Given the description of an element on the screen output the (x, y) to click on. 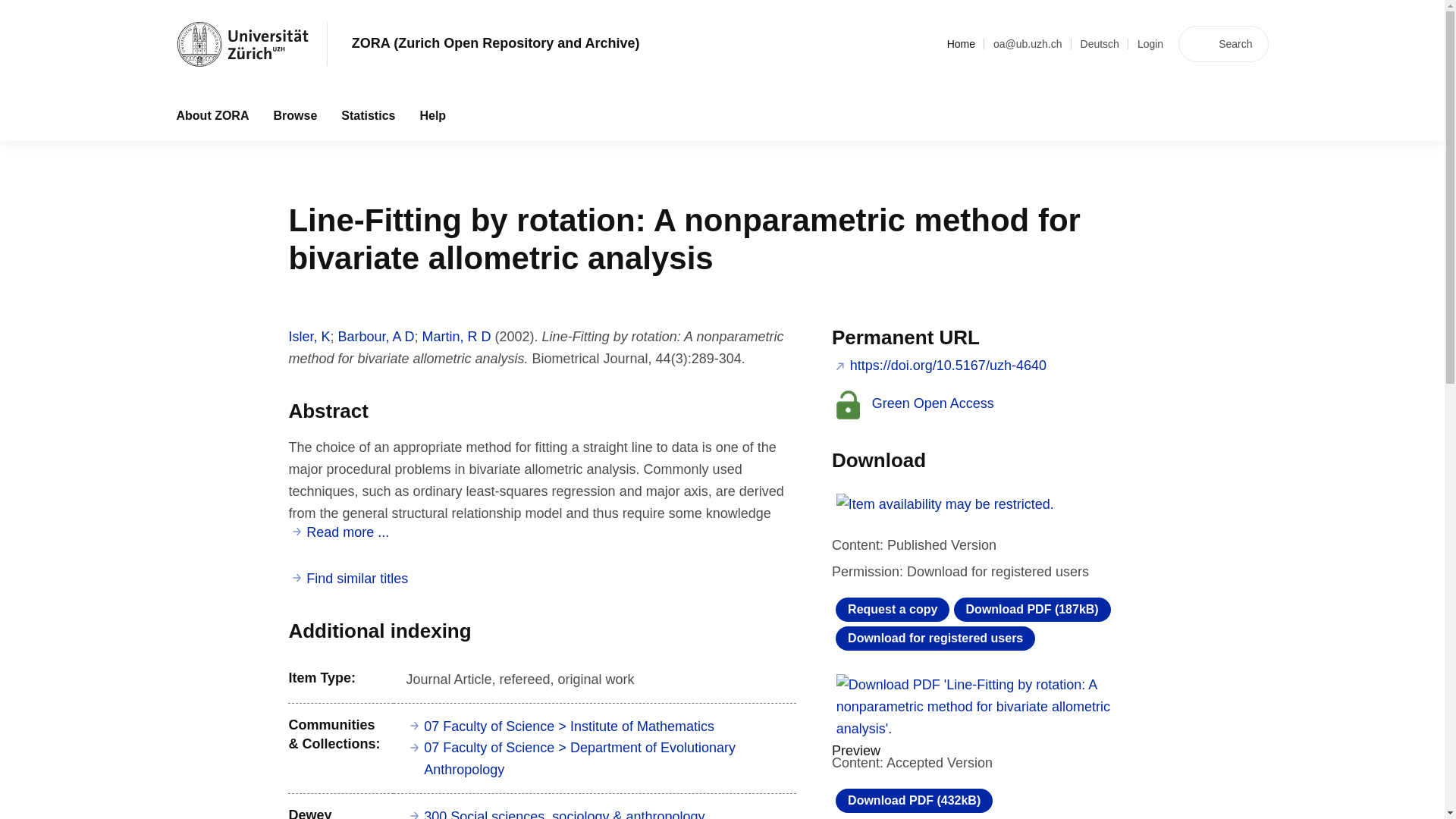
Deutsch (1099, 44)
Green Open Access (914, 404)
Home (961, 44)
Barbour, A D (375, 336)
Download for registered users (935, 638)
Help (432, 115)
Browse (294, 115)
Martin, R D (457, 336)
Read more ... (340, 532)
Statistics (368, 115)
